Given the description of an element on the screen output the (x, y) to click on. 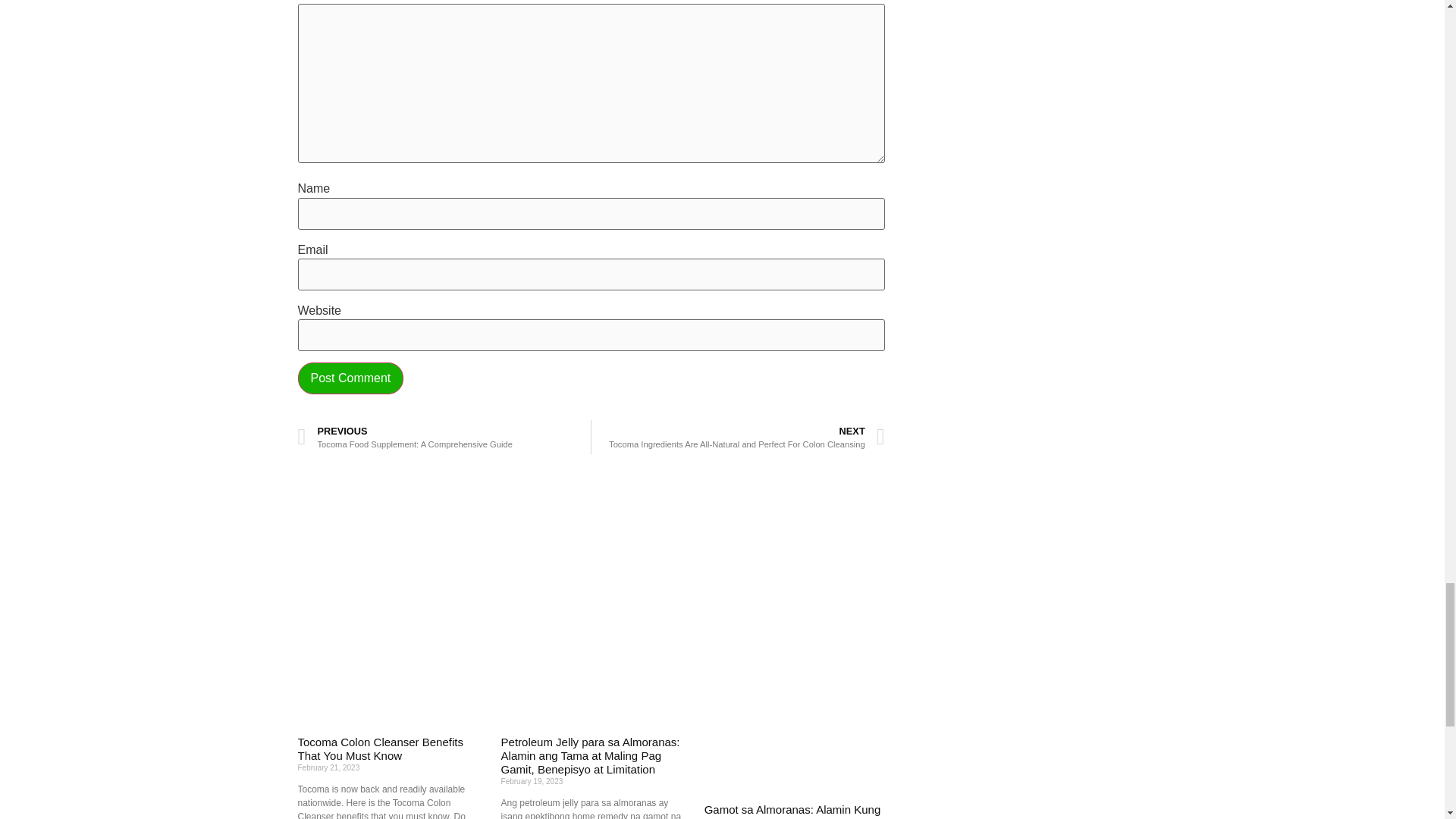
Post Comment (444, 437)
Post Comment (350, 377)
